Given the description of an element on the screen output the (x, y) to click on. 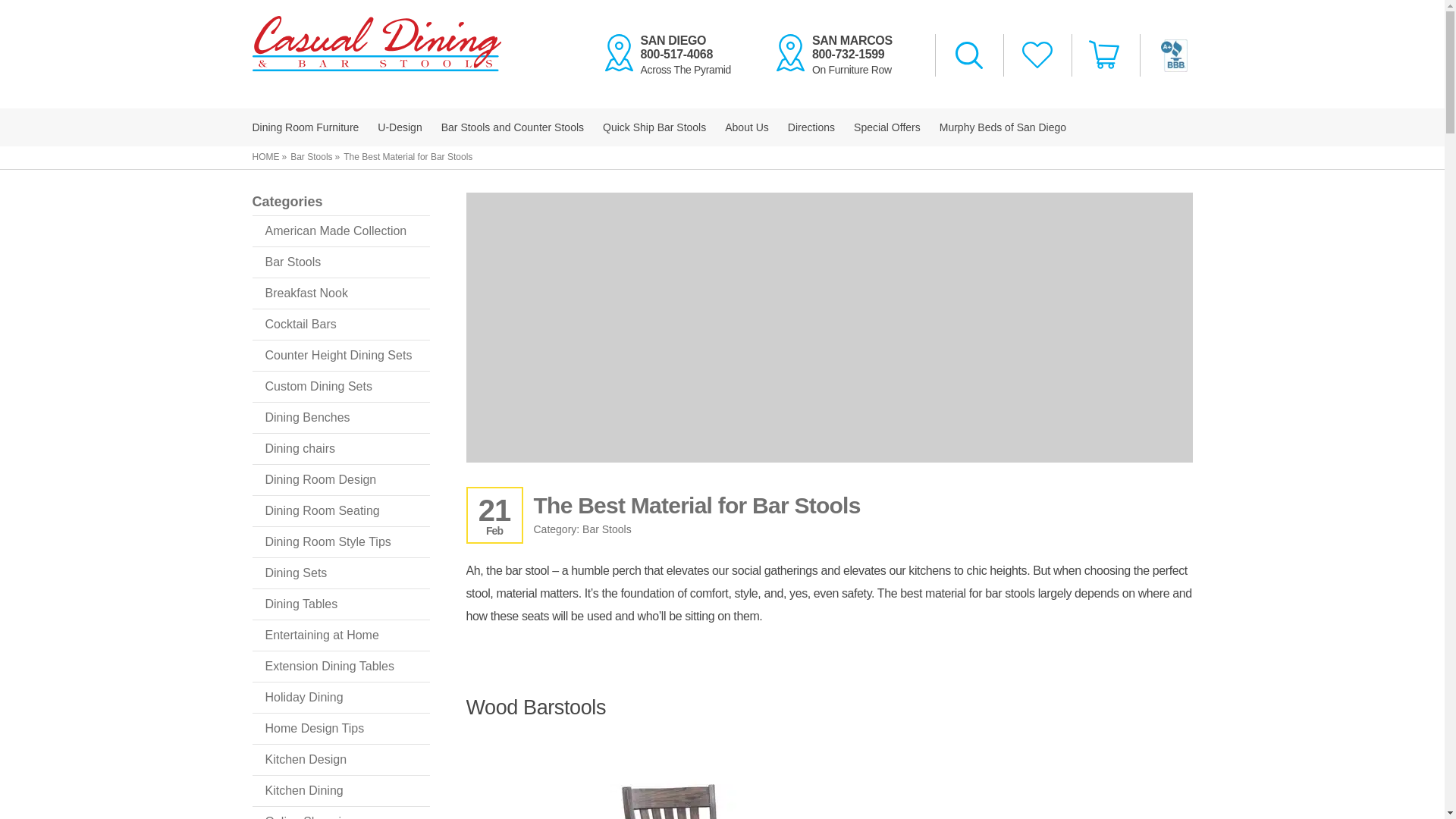
Dining Room Furniture (304, 127)
Bar Stools and Counter Stools (512, 127)
Directions (810, 127)
Quick Ship Bar Stools (654, 127)
U-Design (399, 127)
Cart (1105, 54)
About Us (746, 127)
Wishlist (1037, 56)
